Given the description of an element on the screen output the (x, y) to click on. 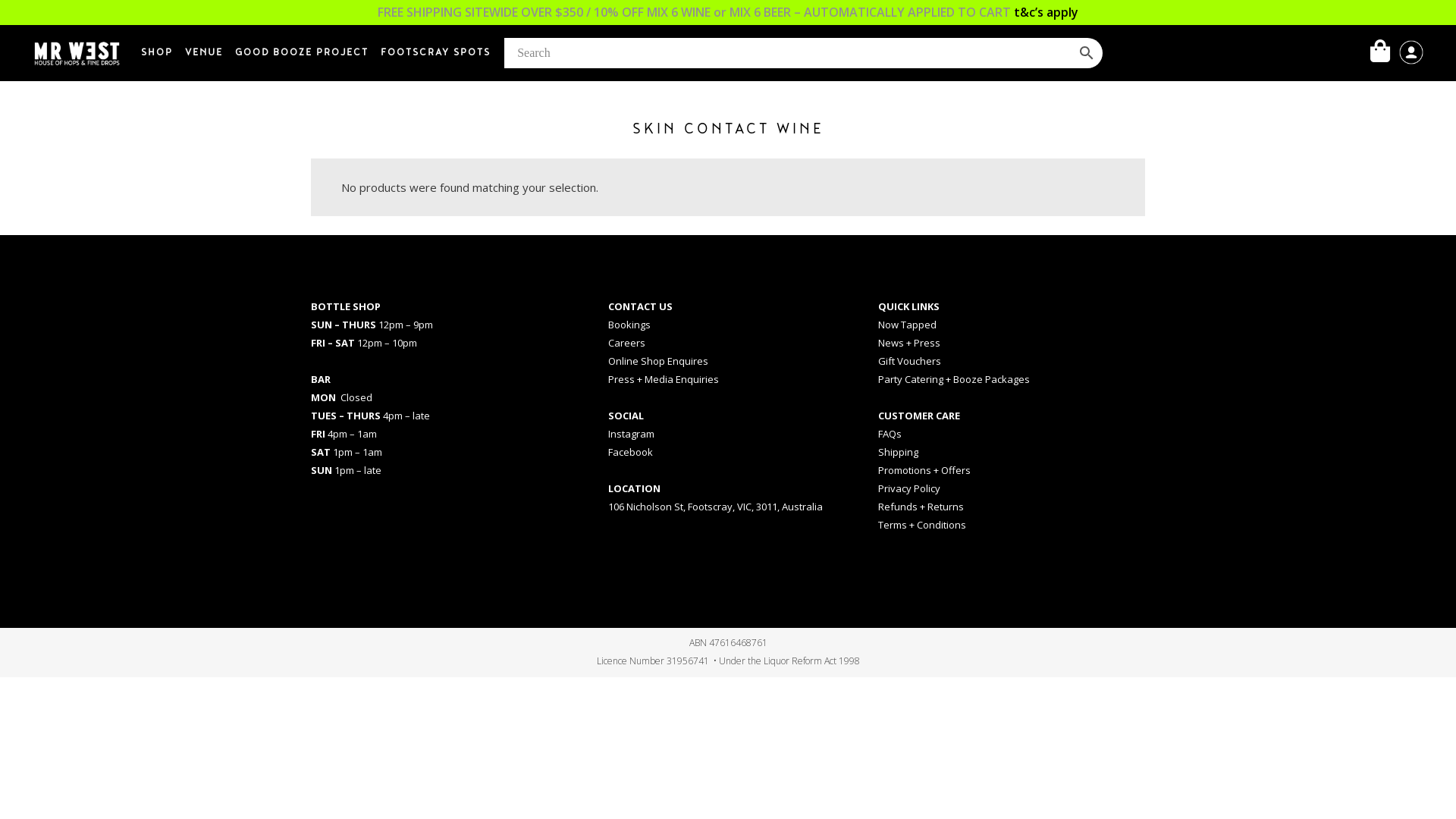
Promotions + Offers Element type: text (924, 469)
Party Catering + Booze Packages Element type: text (953, 378)
Now Tapped Element type: text (907, 323)
Shipping Element type: text (898, 451)
Careers Element type: text (626, 341)
Refunds + Returns Element type: text (920, 505)
account Element type: hover (1411, 61)
Online Shop Enquires Element type: text (658, 360)
SHOP Element type: text (156, 53)
Privacy Policy Element type: text (909, 487)
Bookings Element type: text (629, 323)
Facebook Element type: text (630, 451)
FAQs Element type: text (889, 432)
Gift Vouchers Element type: text (909, 360)
FOOTSCRAY SPOTS Element type: text (435, 53)
Instagram Element type: text (631, 432)
Terms + Conditions Element type: text (922, 523)
106 Nicholson St, Footscray, VIC, 3011, Australia Element type: text (715, 505)
My Cart Element type: hover (1383, 50)
VENUE Element type: text (203, 53)
Press + Media Enquiries Element type: text (663, 378)
account Element type: hover (1411, 51)
GOOD BOOZE PROJECT Element type: text (301, 53)
News + Press Element type: text (909, 341)
